Given the description of an element on the screen output the (x, y) to click on. 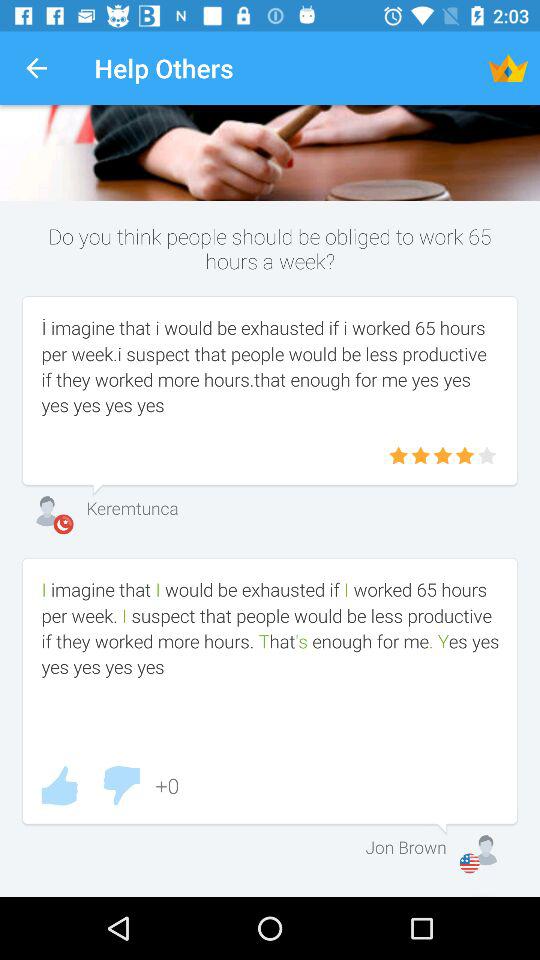
open the app next to help others item (36, 68)
